Given the description of an element on the screen output the (x, y) to click on. 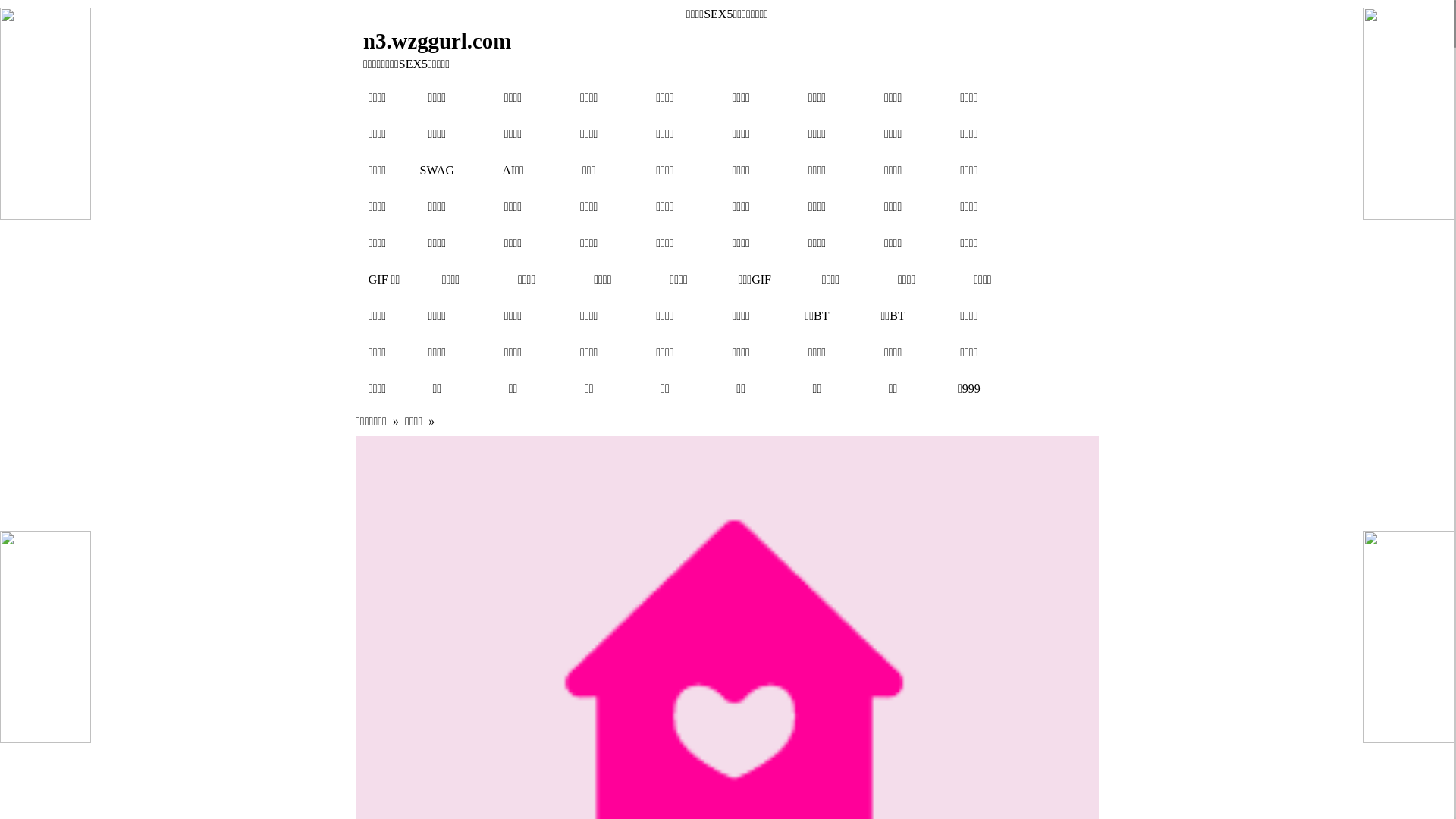
SWAG Element type: text (437, 169)
n3.wzggurl.com Element type: text (634, 40)
